Given the description of an element on the screen output the (x, y) to click on. 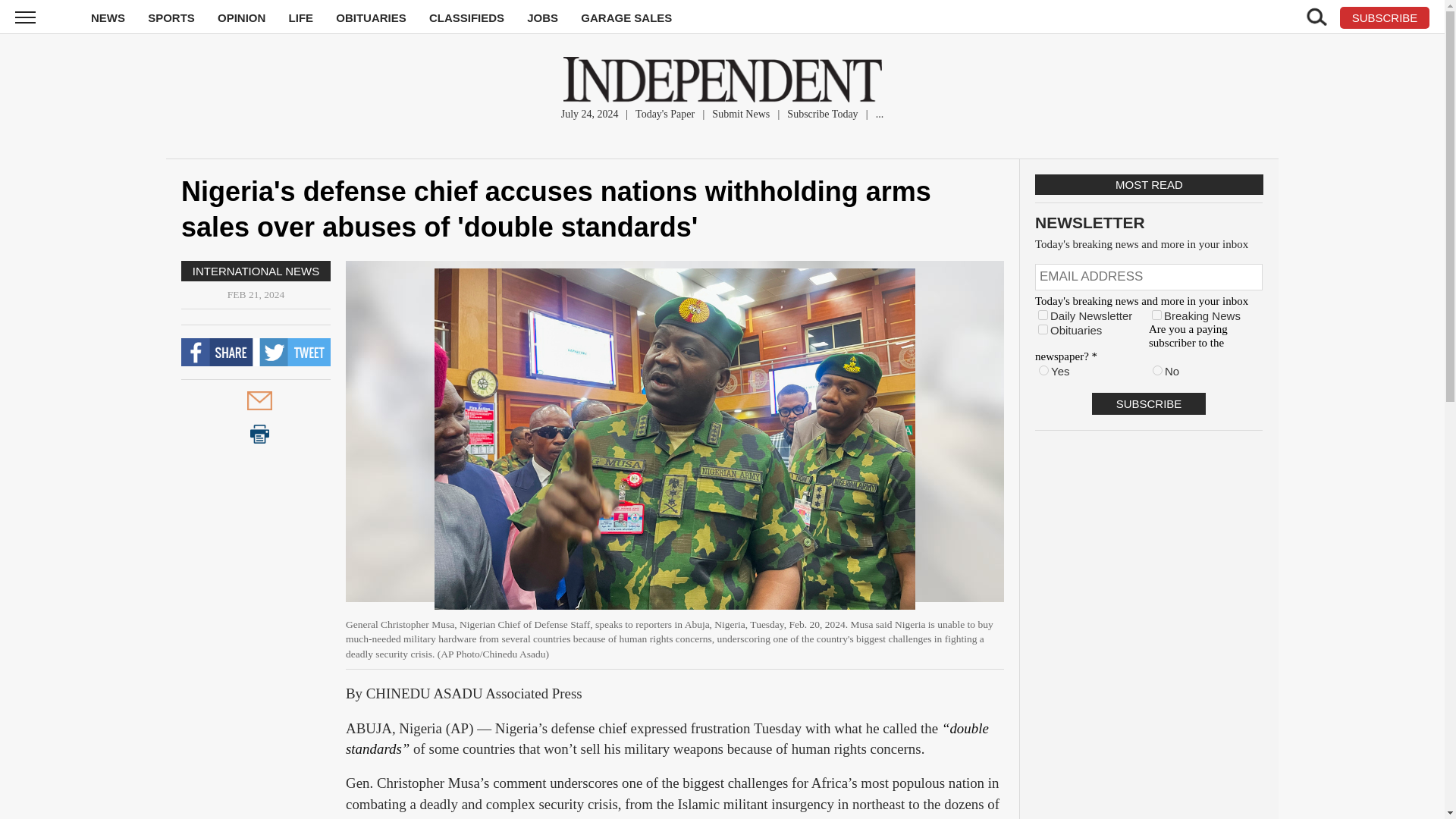
Yes (1043, 370)
1 (1043, 315)
4 (1043, 329)
2 (1156, 315)
No (1157, 370)
Subscribe (1148, 403)
